Given the description of an element on the screen output the (x, y) to click on. 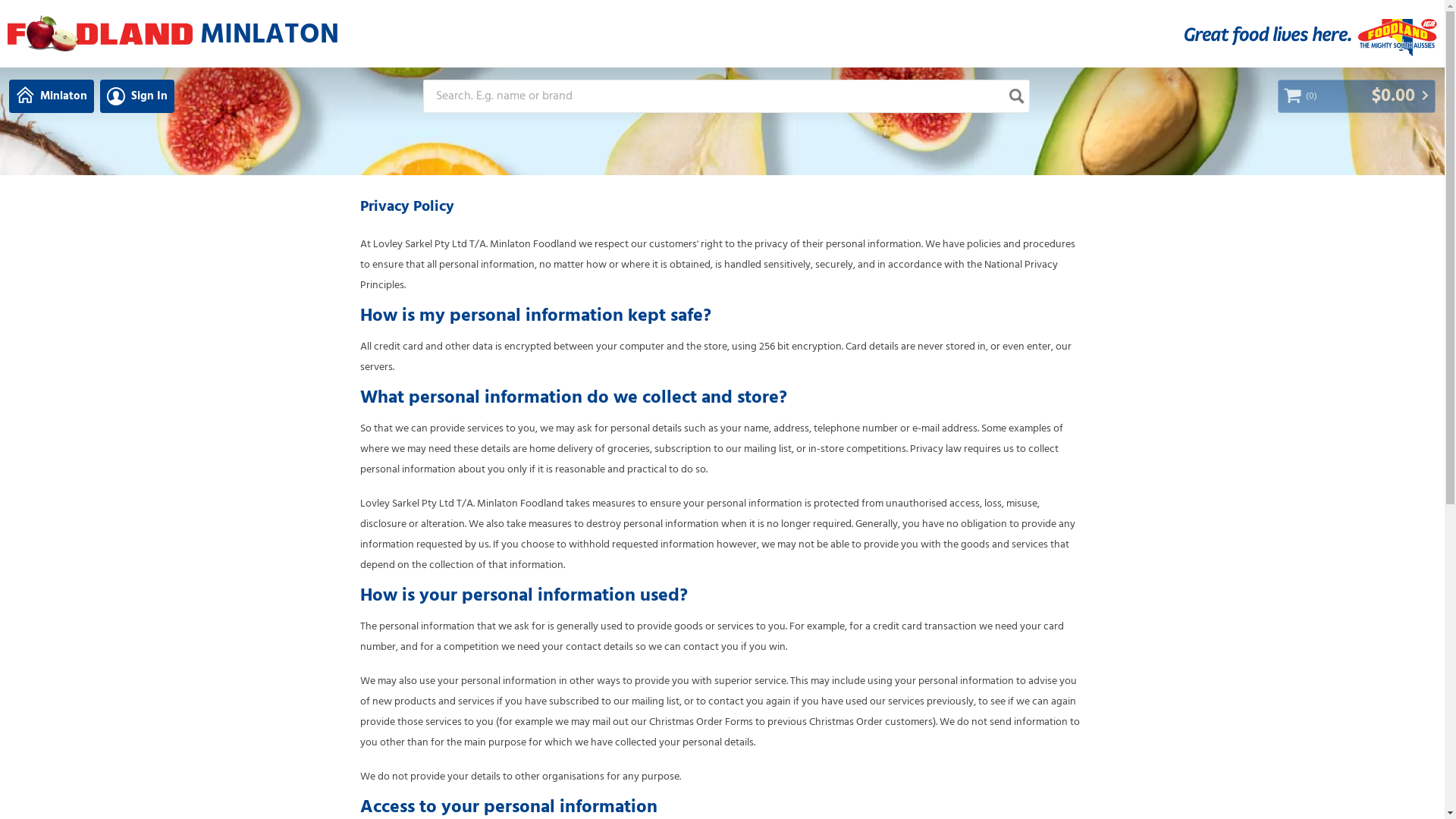
Minlaton Element type: text (51, 95)
(0)
$0.00 Element type: text (1356, 95)
MINLATON Element type: text (261, 33)
Search Element type: hover (1016, 96)
Sign In Element type: text (137, 95)
